Given the description of an element on the screen output the (x, y) to click on. 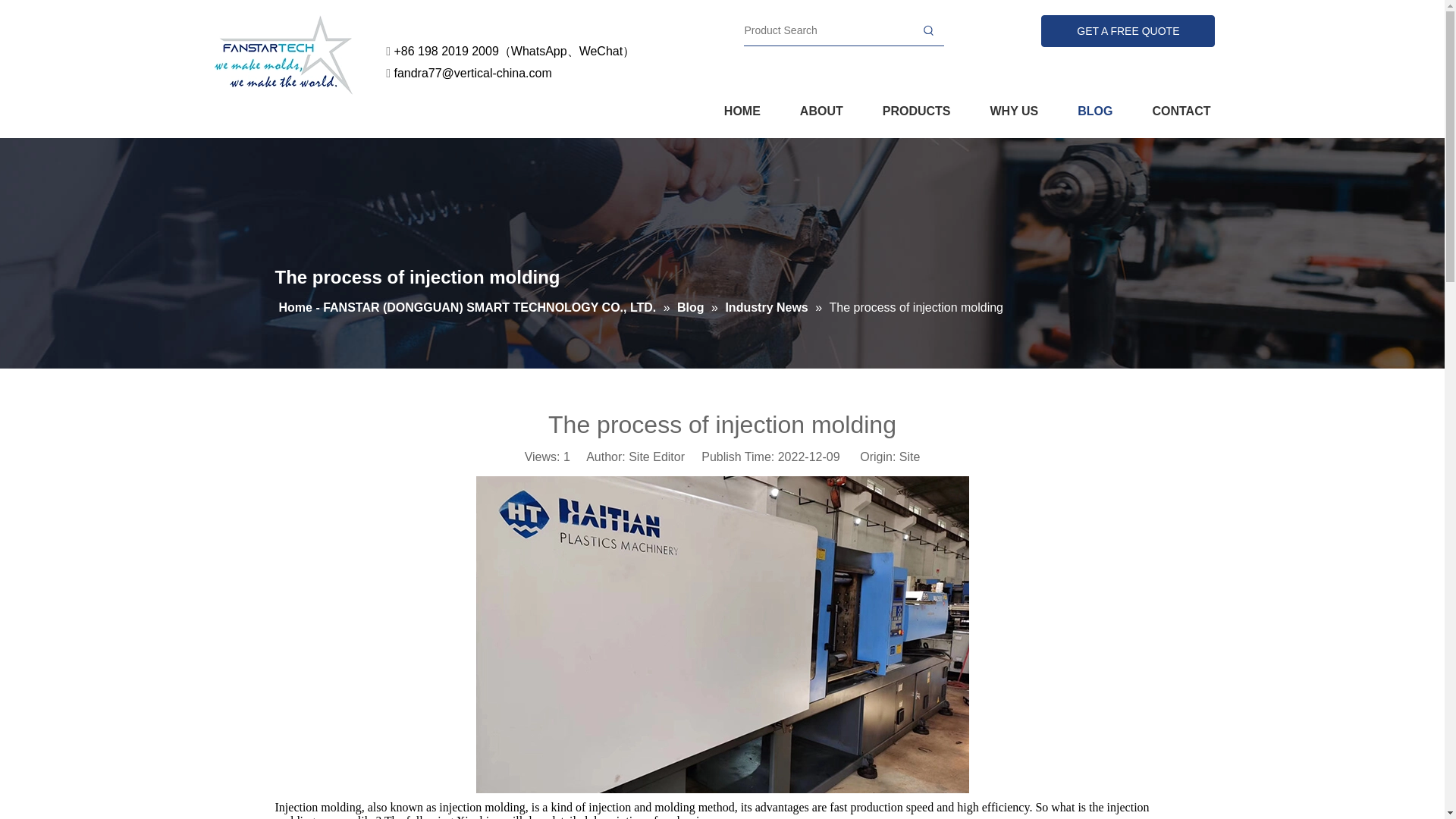
CONTACT (1180, 111)
BLOG (1094, 109)
ABOUT (821, 111)
GET A FREE QUOTE (1127, 30)
PRODUCTS (916, 111)
HOME (741, 111)
WHY US (1014, 111)
